Given the description of an element on the screen output the (x, y) to click on. 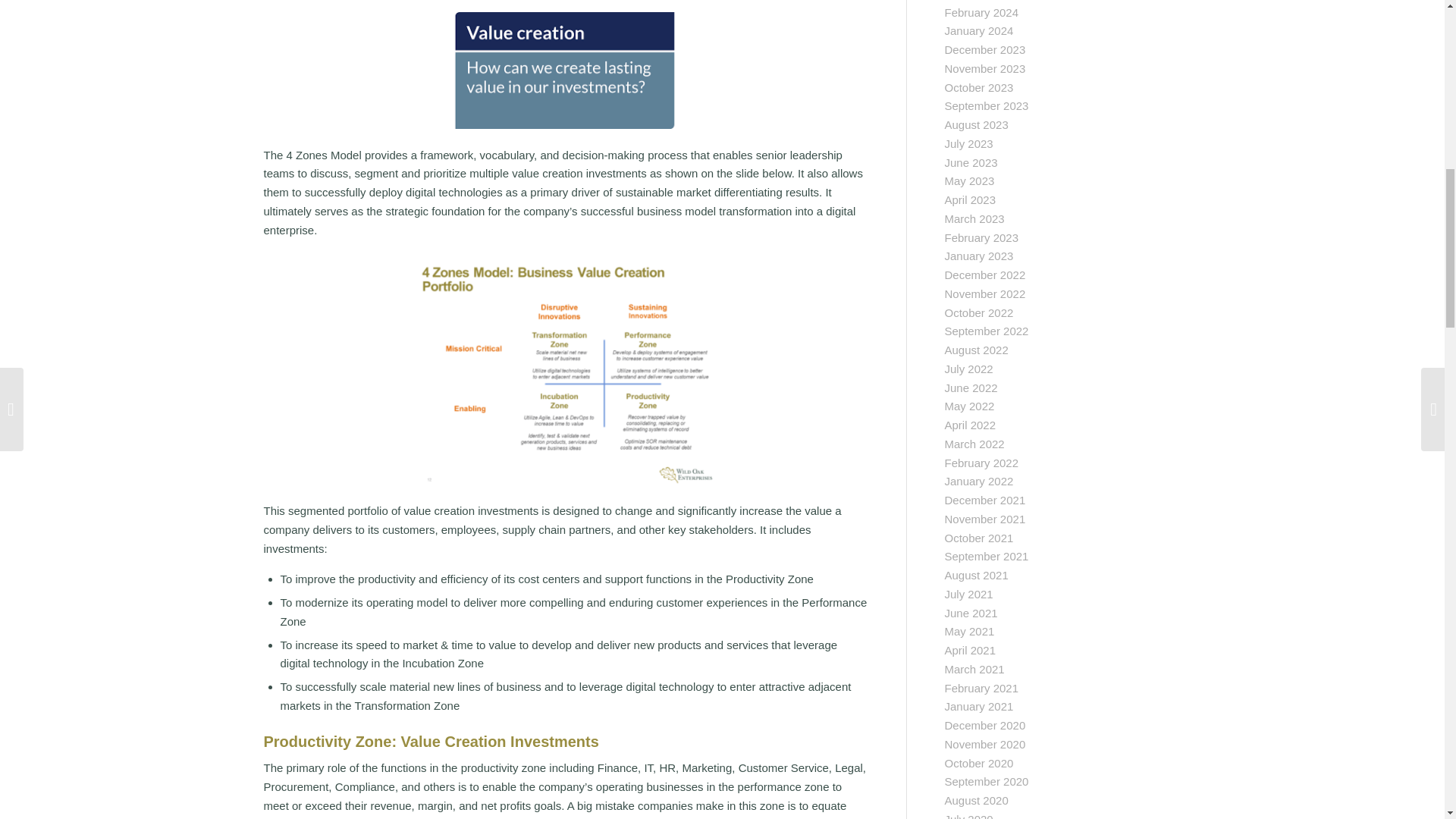
July 2023 (968, 143)
October 2023 (978, 87)
September 2023 (986, 105)
January 2024 (978, 30)
February 2024 (981, 11)
December 2023 (985, 49)
November 2023 (985, 68)
August 2023 (976, 124)
